Given the description of an element on the screen output the (x, y) to click on. 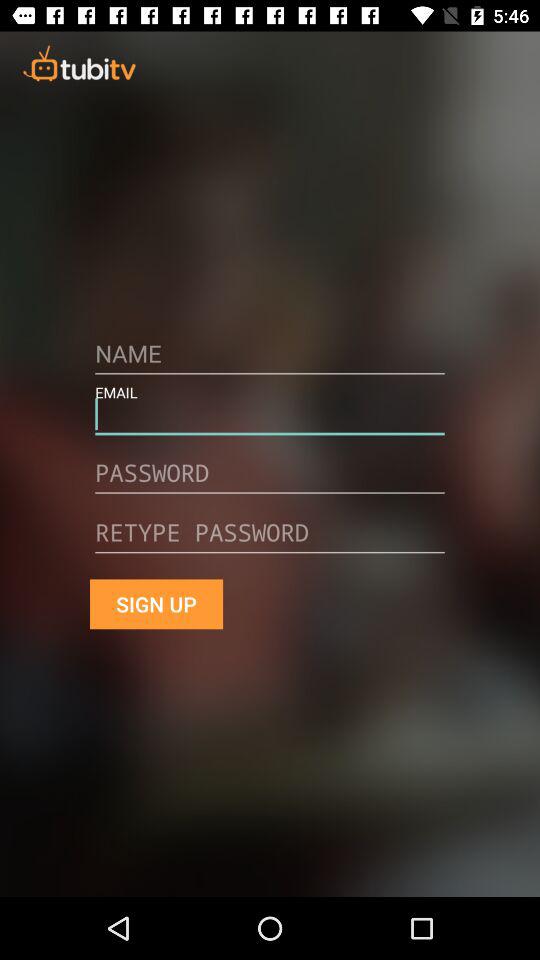
put email (270, 421)
